Given the description of an element on the screen output the (x, y) to click on. 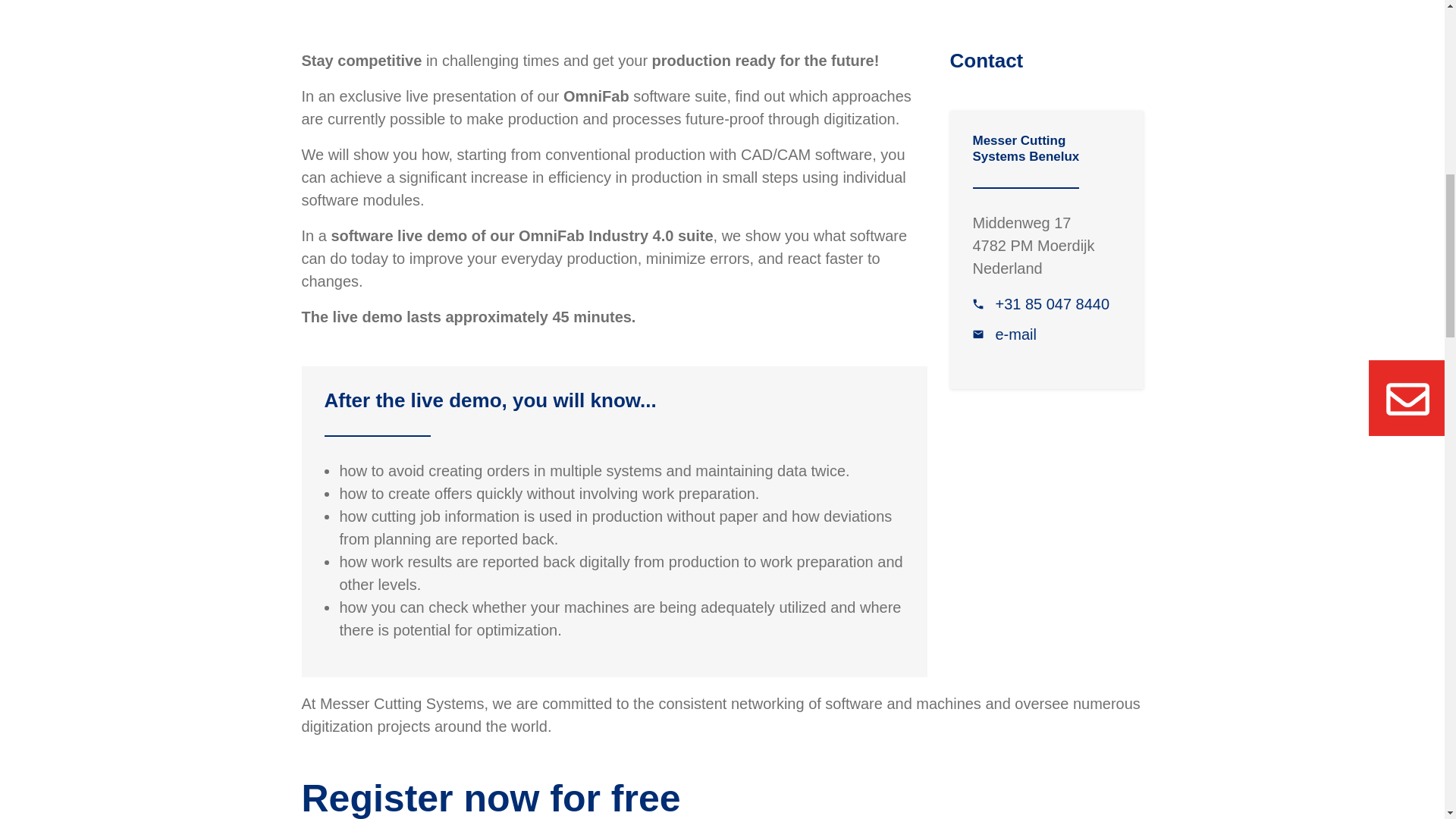
Register now for free (491, 798)
e-mail (1003, 333)
